Given the description of an element on the screen output the (x, y) to click on. 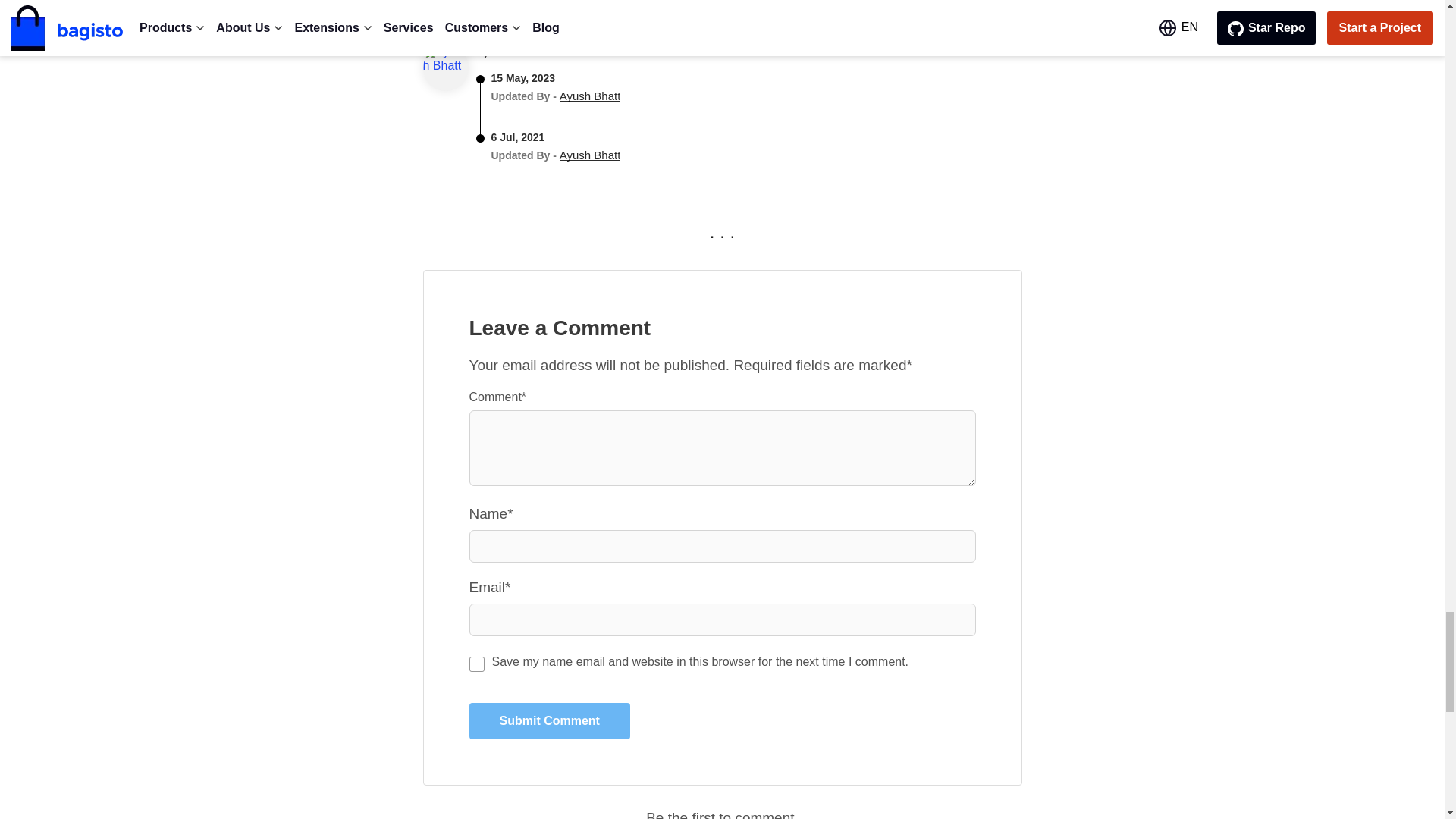
Submit Comment (548, 720)
